Given the description of an element on the screen output the (x, y) to click on. 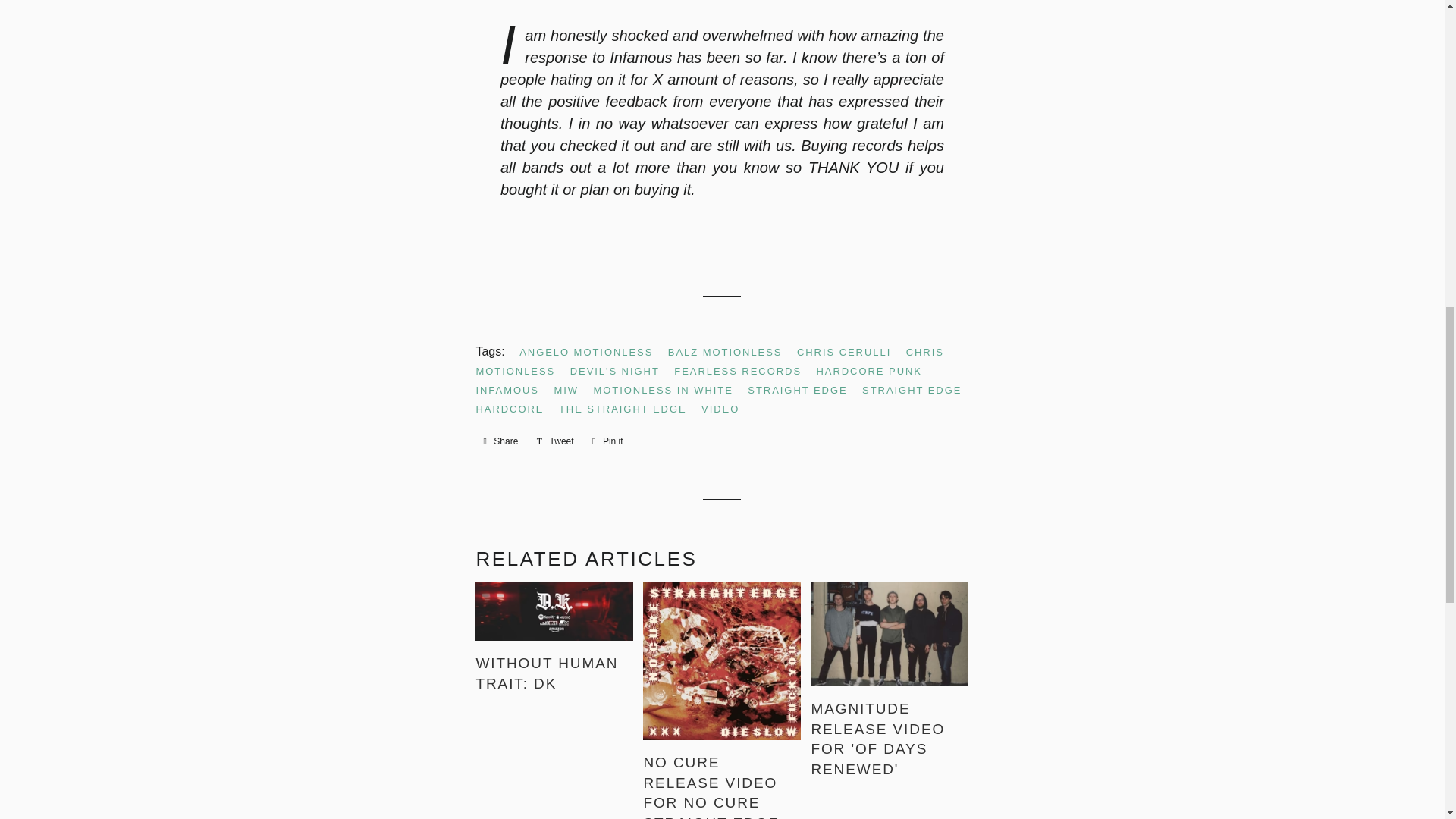
Pin on Pinterest (607, 441)
Tweet on Twitter (554, 441)
Share on Facebook (500, 441)
